Given the description of an element on the screen output the (x, y) to click on. 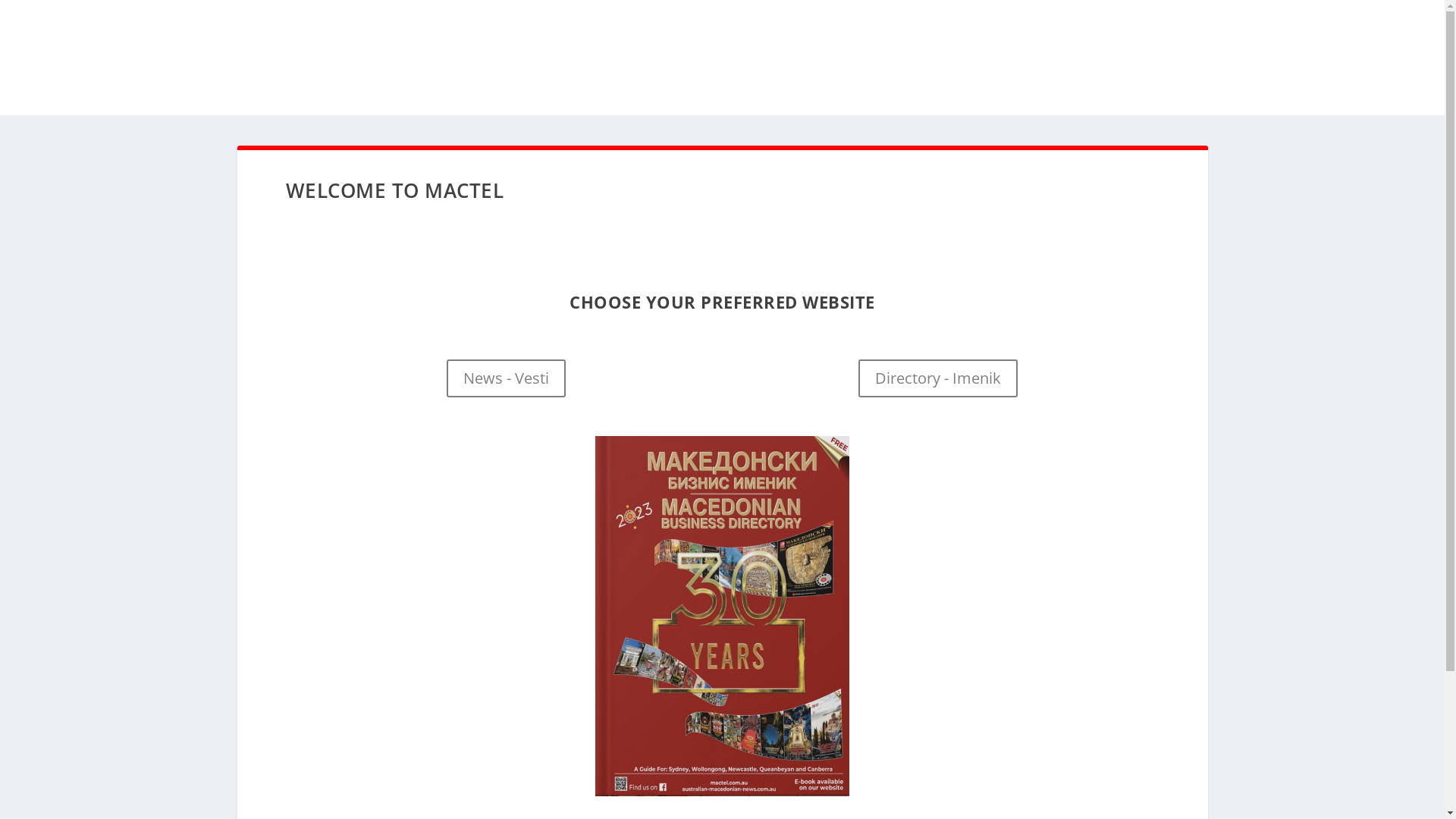
Directory - Imenik Element type: text (937, 378)
Macedonian Business Directory Element type: hover (722, 615)
News - Vesti Element type: text (505, 378)
